Given the description of an element on the screen output the (x, y) to click on. 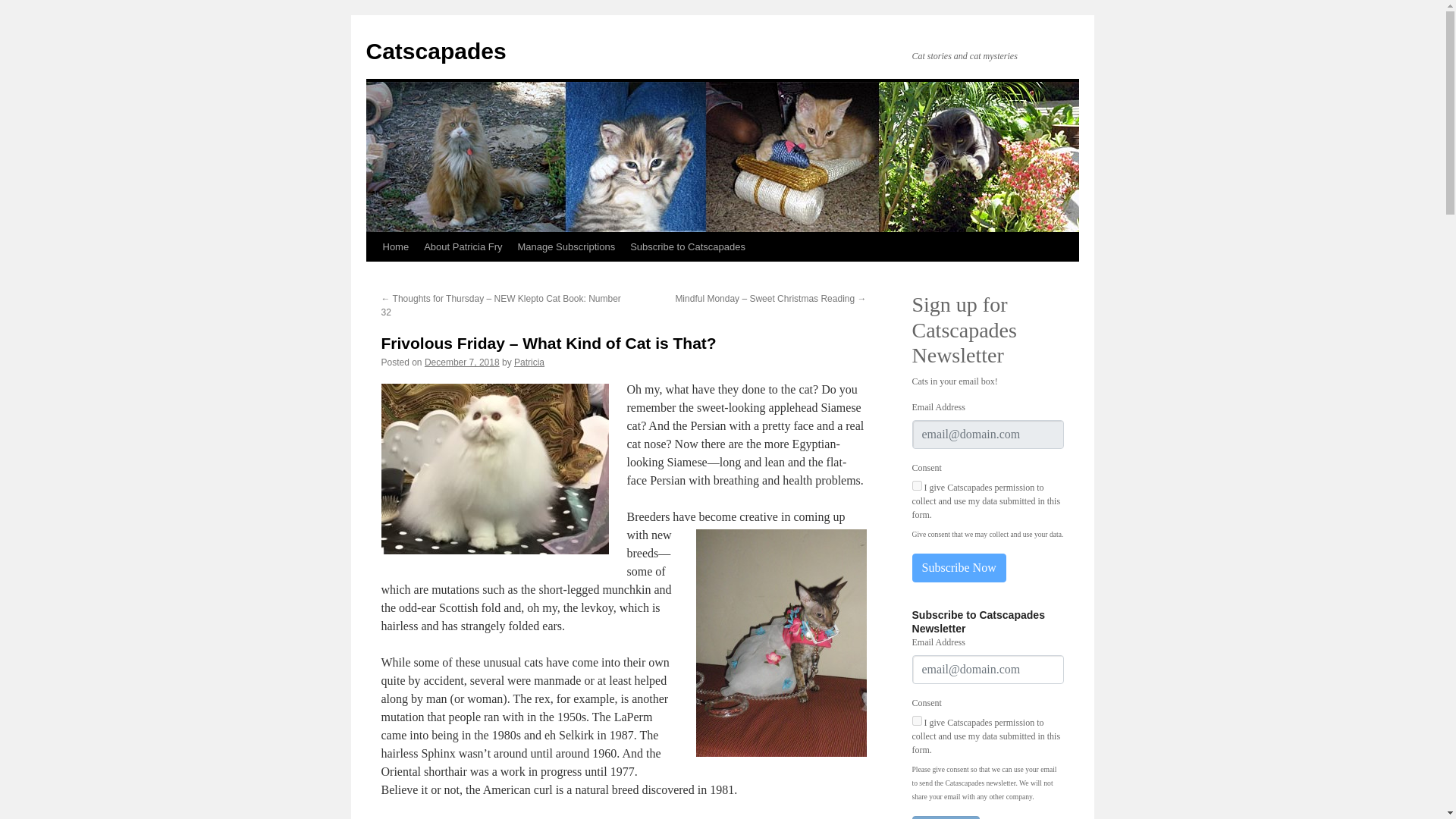
5:40 am (462, 362)
Subscribe Now (958, 567)
Patricia (528, 362)
1 (916, 485)
Subscribe (944, 817)
Subscribe to Catscapades (687, 246)
Manage Subscriptions (567, 246)
Home (395, 246)
View all posts by Patricia (528, 362)
December 7, 2018 (462, 362)
